Given the description of an element on the screen output the (x, y) to click on. 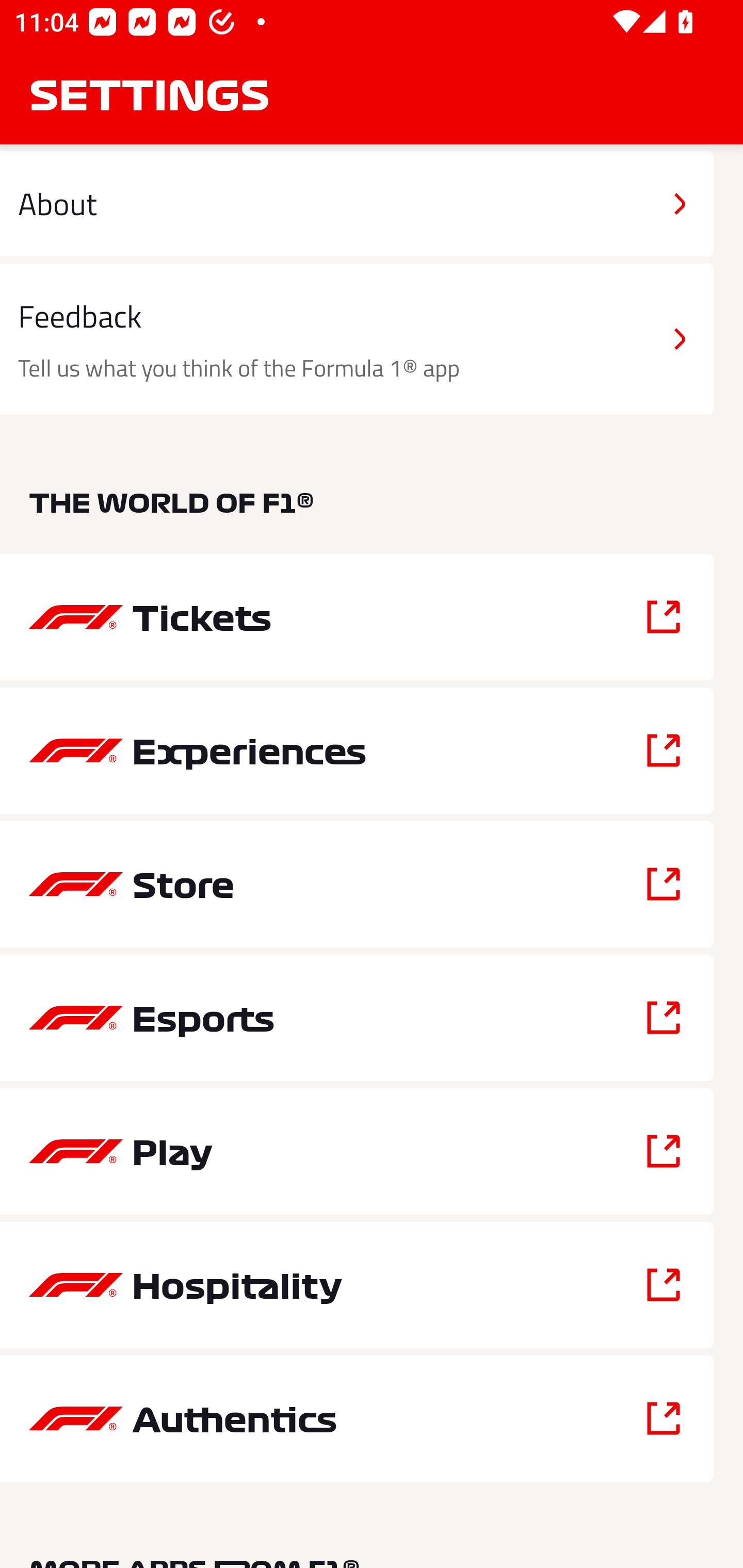
About (357, 202)
Tickets (357, 616)
Experiences (357, 749)
Store (357, 884)
Esports (357, 1017)
Play (357, 1151)
Hospitality (357, 1284)
Authentics (357, 1417)
